Given the description of an element on the screen output the (x, y) to click on. 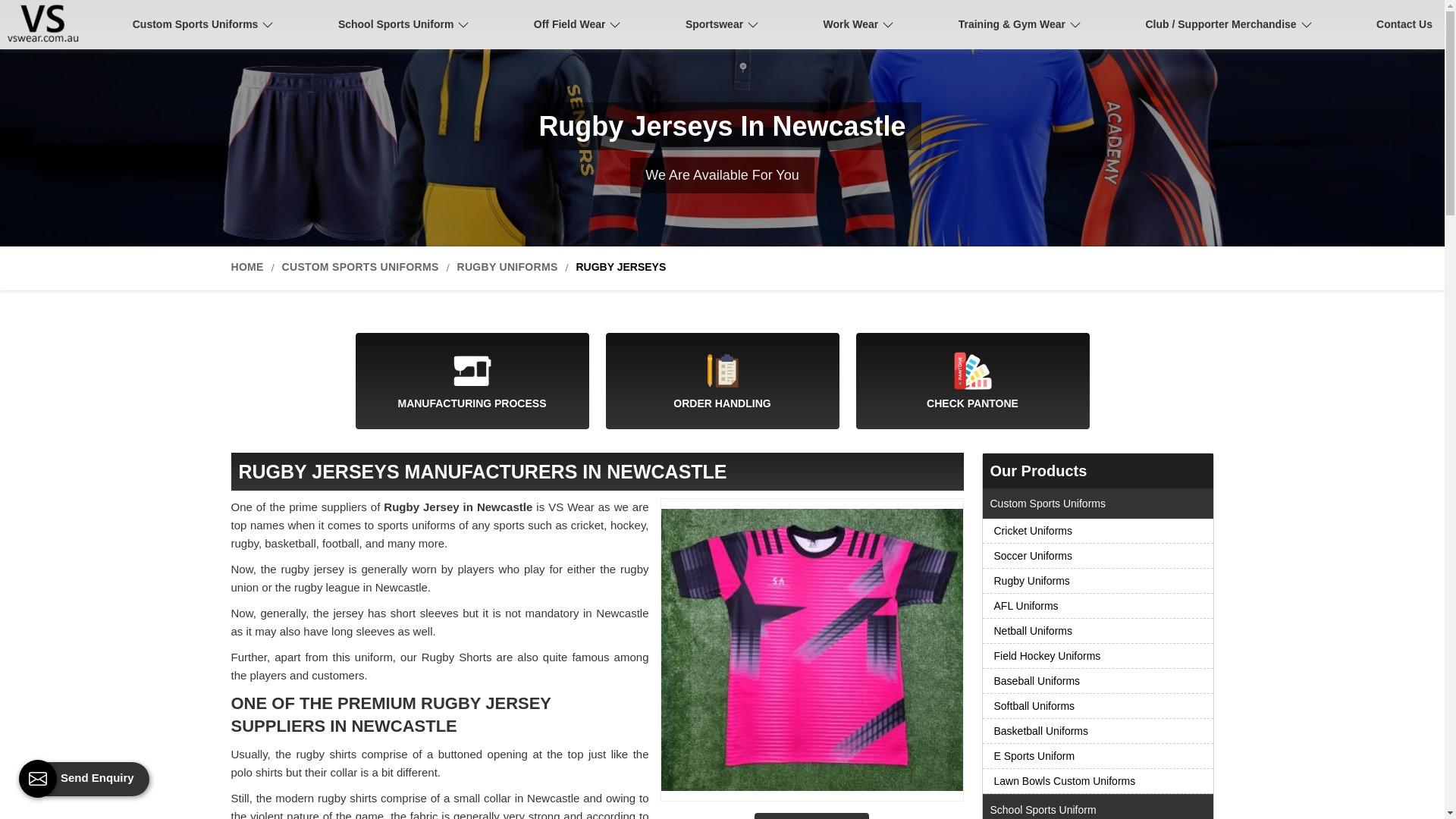
VS Wear (48, 23)
Custom Sports Uniforms  (203, 24)
Custom Sports Uniforms (203, 24)
VS Wear (45, 23)
